Given the description of an element on the screen output the (x, y) to click on. 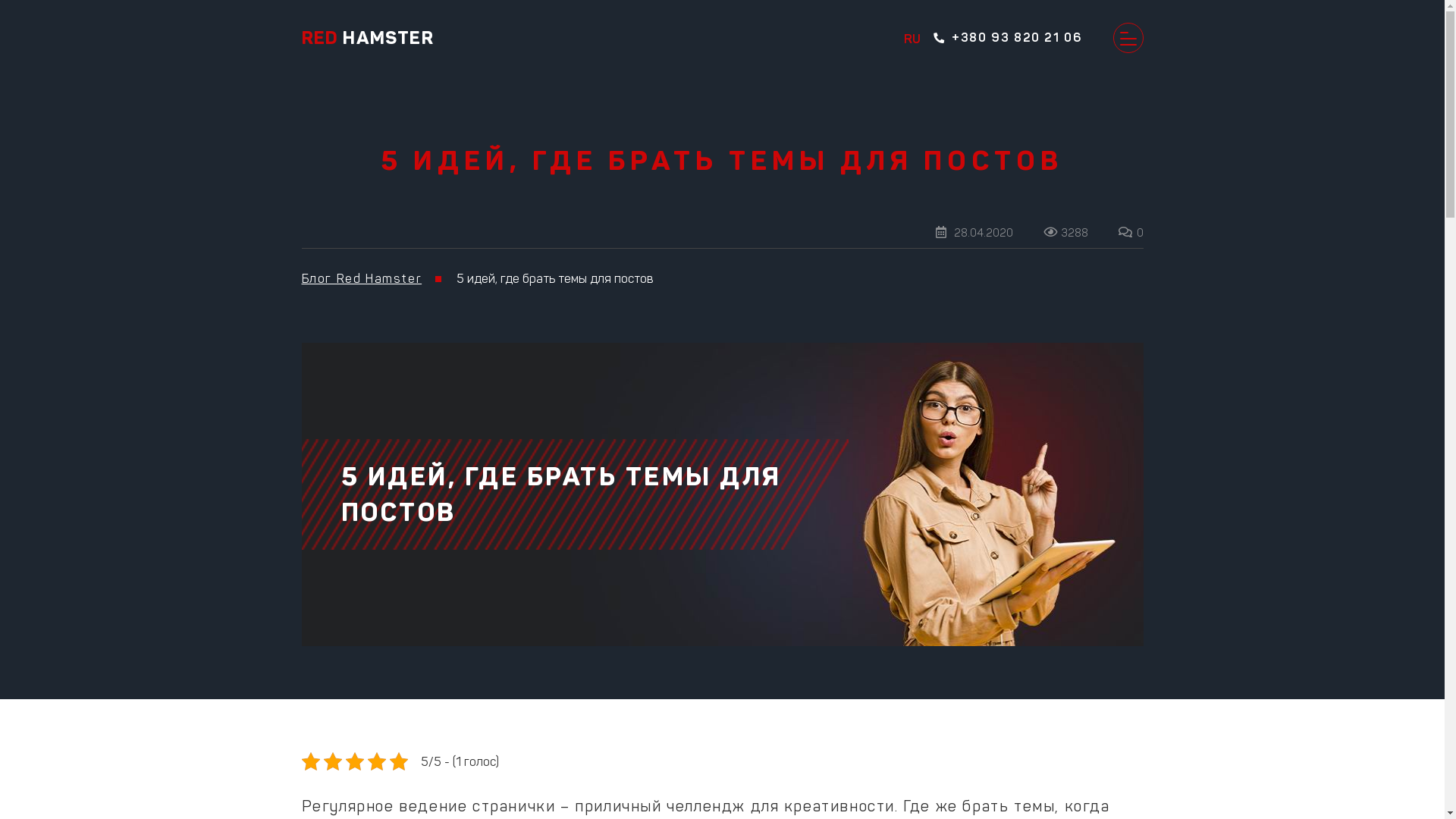
RU Element type: text (911, 37)
RED HAMSTER Element type: text (367, 37)
+380 93 820 21 06 Element type: text (1037, 37)
